Given the description of an element on the screen output the (x, y) to click on. 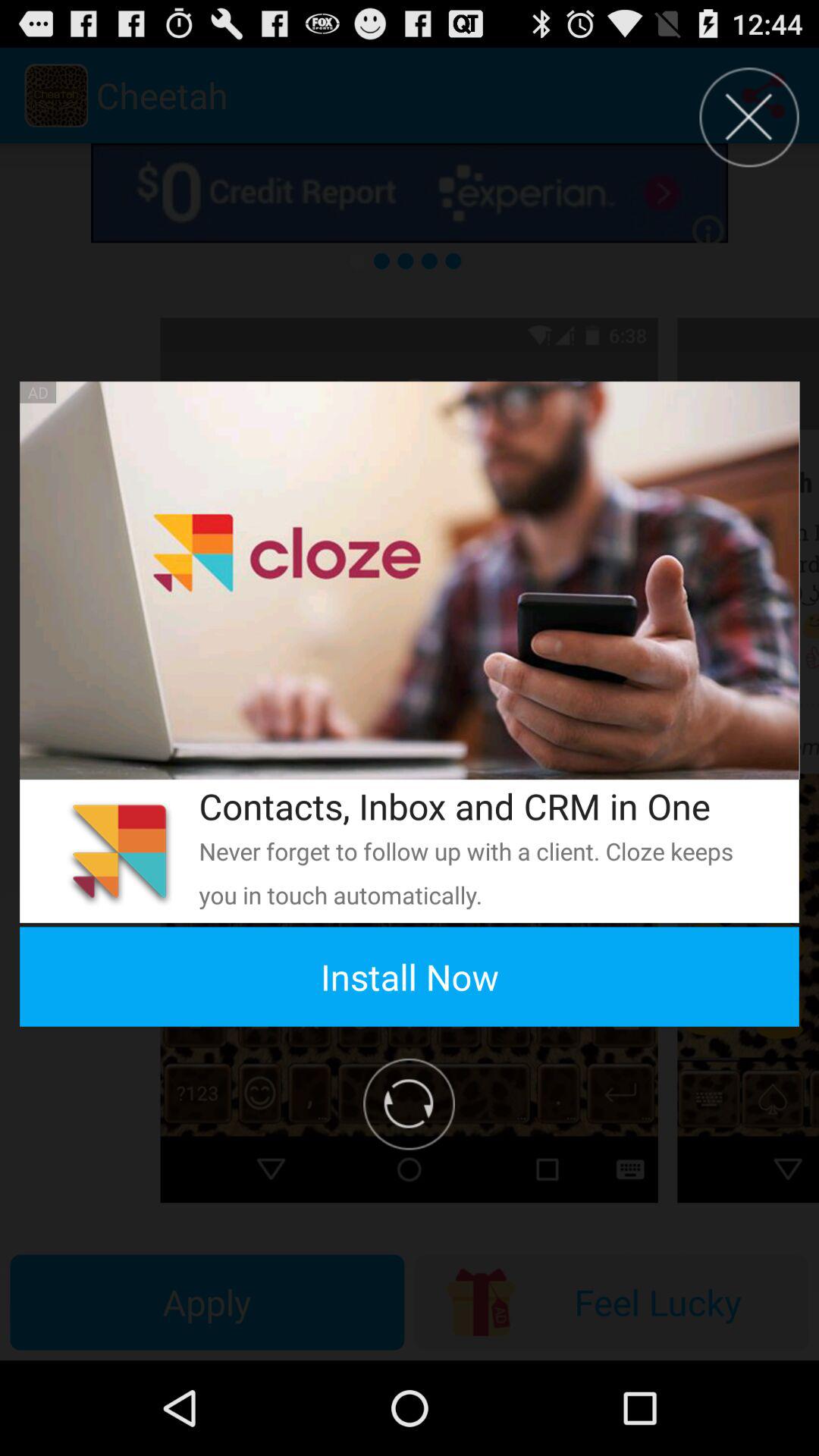
press the app above install now (119, 851)
